Given the description of an element on the screen output the (x, y) to click on. 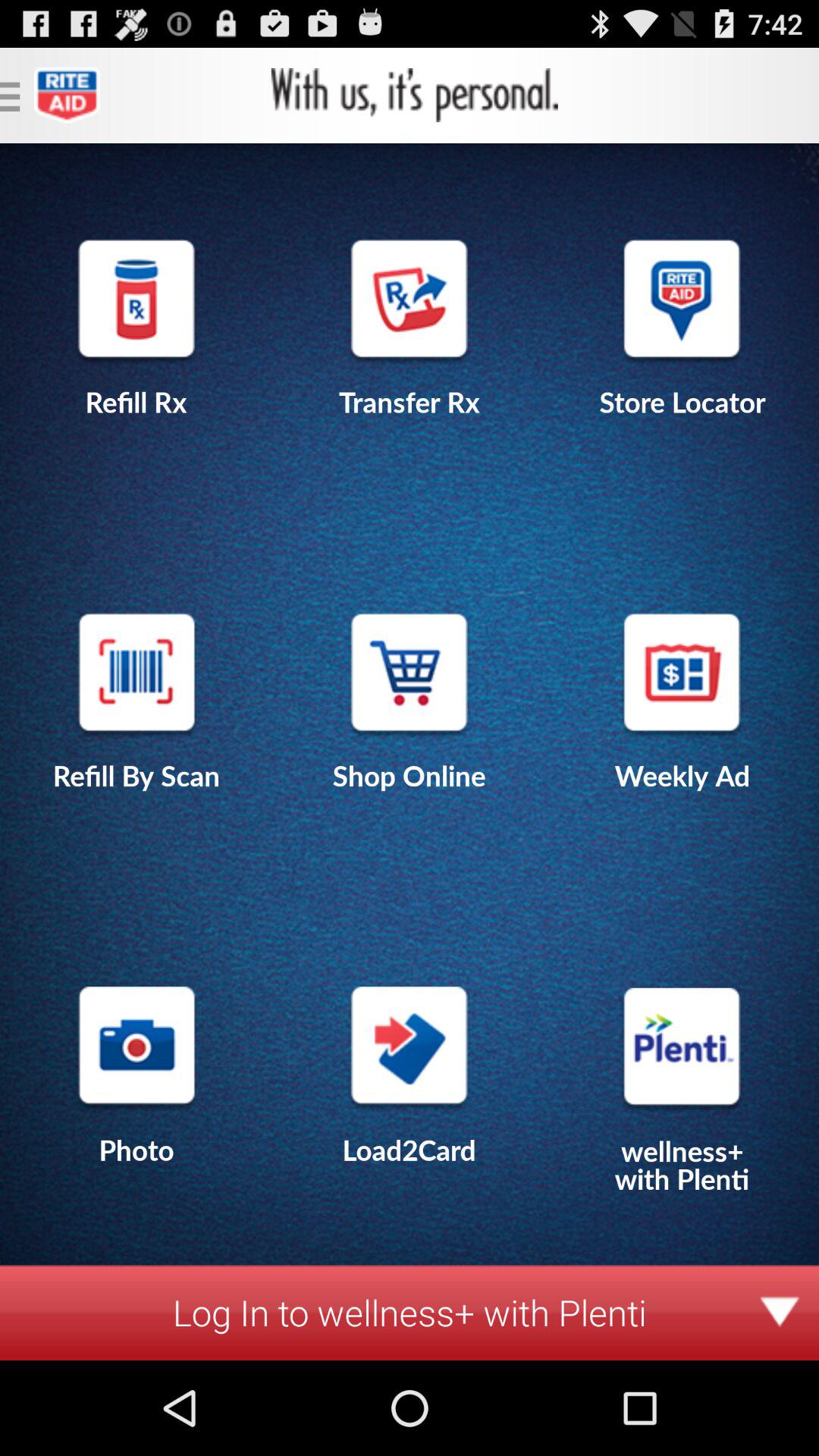
flip until the log in to (409, 1312)
